Given the description of an element on the screen output the (x, y) to click on. 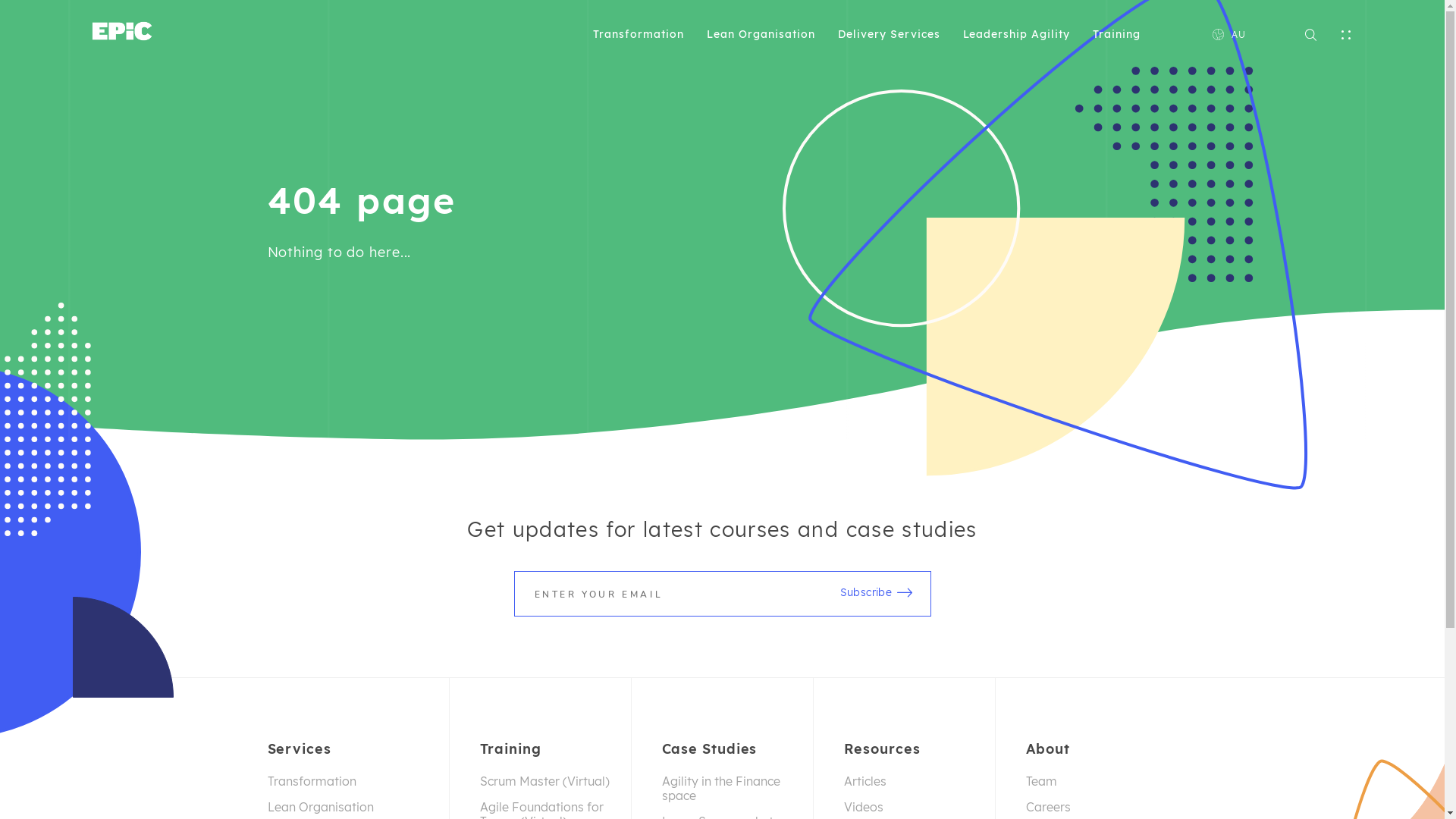
Lean Organisation Element type: text (760, 33)
Delivery Services Element type: text (888, 33)
Training Element type: text (1116, 33)
Case Studies Element type: text (734, 748)
Subscribe Element type: text (873, 592)
Careers Element type: text (1100, 807)
Services Element type: text (354, 748)
Resources Element type: text (916, 748)
Transformation Element type: text (354, 781)
Videos Element type: text (916, 807)
Scrum Master (Virtual) Element type: text (552, 781)
Articles Element type: text (916, 781)
Lean Organisation Element type: text (354, 807)
Training Element type: text (552, 748)
Leadership Agility Element type: text (1016, 33)
Team Element type: text (1100, 781)
Agility in the Finance space Element type: text (734, 788)
Transformation Element type: text (638, 33)
About Element type: text (1100, 748)
